Given the description of an element on the screen output the (x, y) to click on. 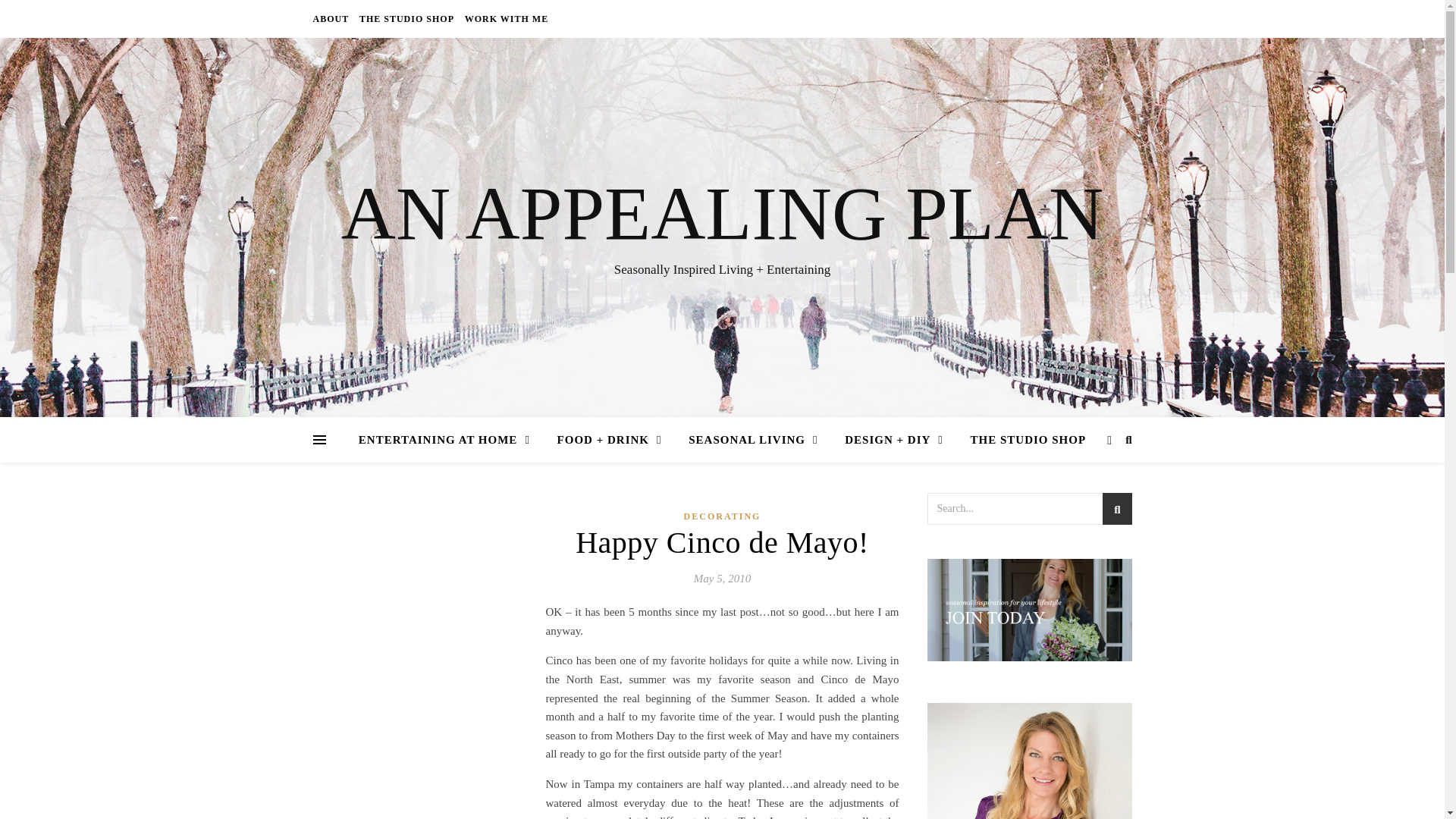
SEASONAL LIVING (753, 439)
THE STUDIO SHOP (1022, 439)
ABOUT (332, 18)
ENTERTAINING AT HOME (449, 439)
WORK WITH ME (504, 18)
THE STUDIO SHOP (406, 18)
